Given the description of an element on the screen output the (x, y) to click on. 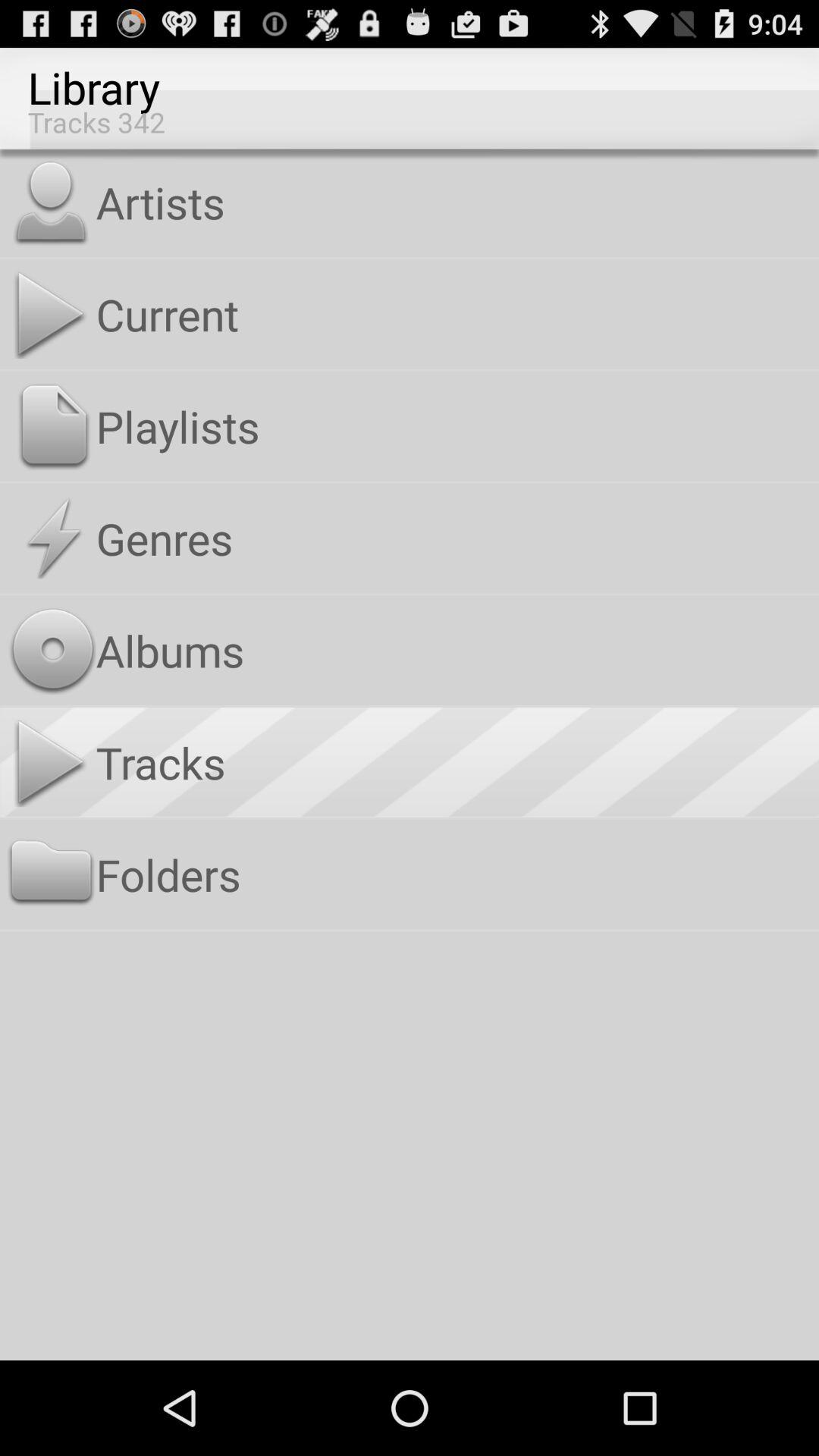
turn off the app below the tracks 342 icon (454, 201)
